Given the description of an element on the screen output the (x, y) to click on. 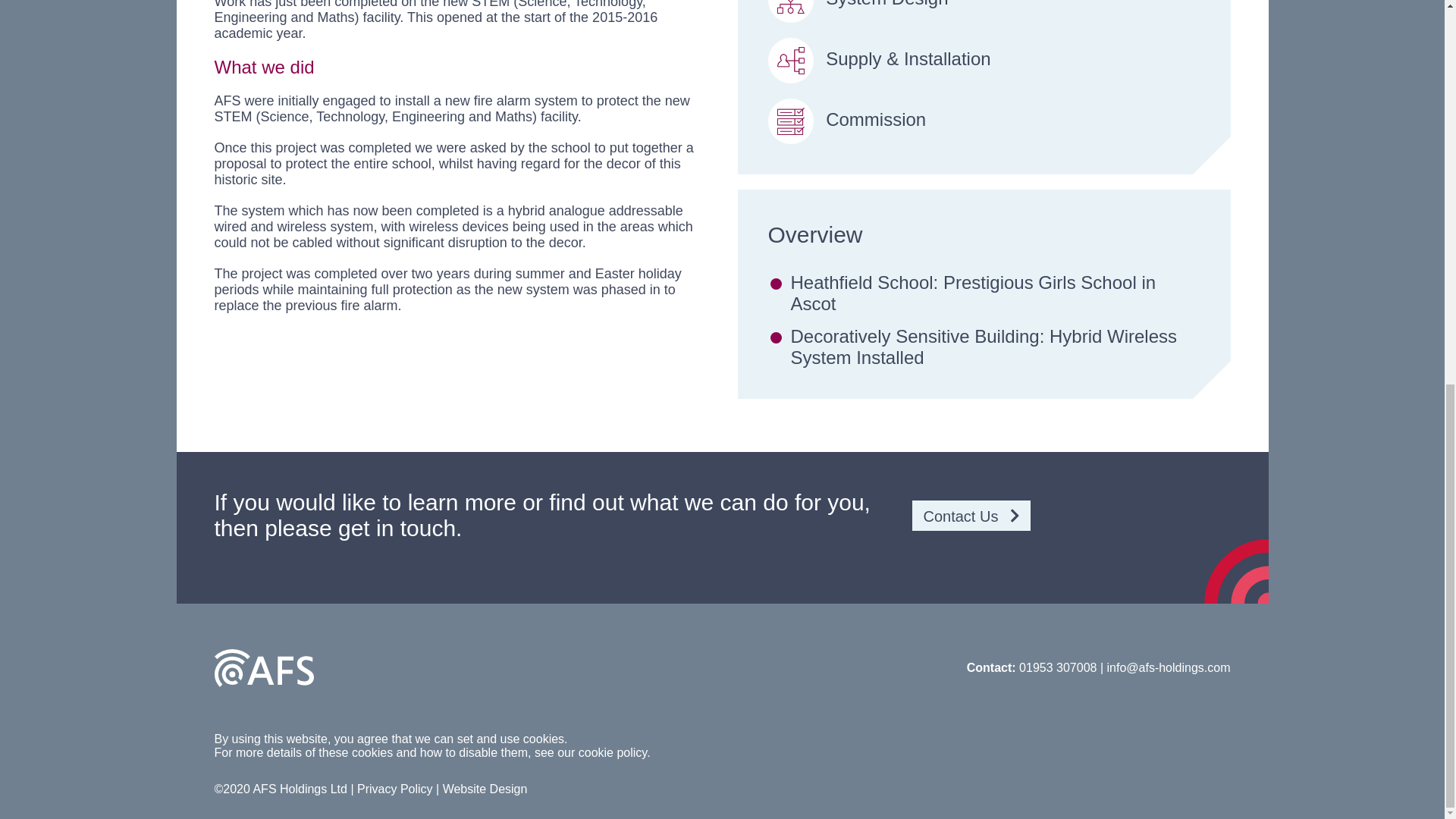
Commission (983, 121)
Privacy Policy (394, 788)
01953 307008 (1059, 667)
Contact Us (970, 515)
System Design (983, 11)
Website Design (484, 788)
cookie policy (612, 752)
